Given the description of an element on the screen output the (x, y) to click on. 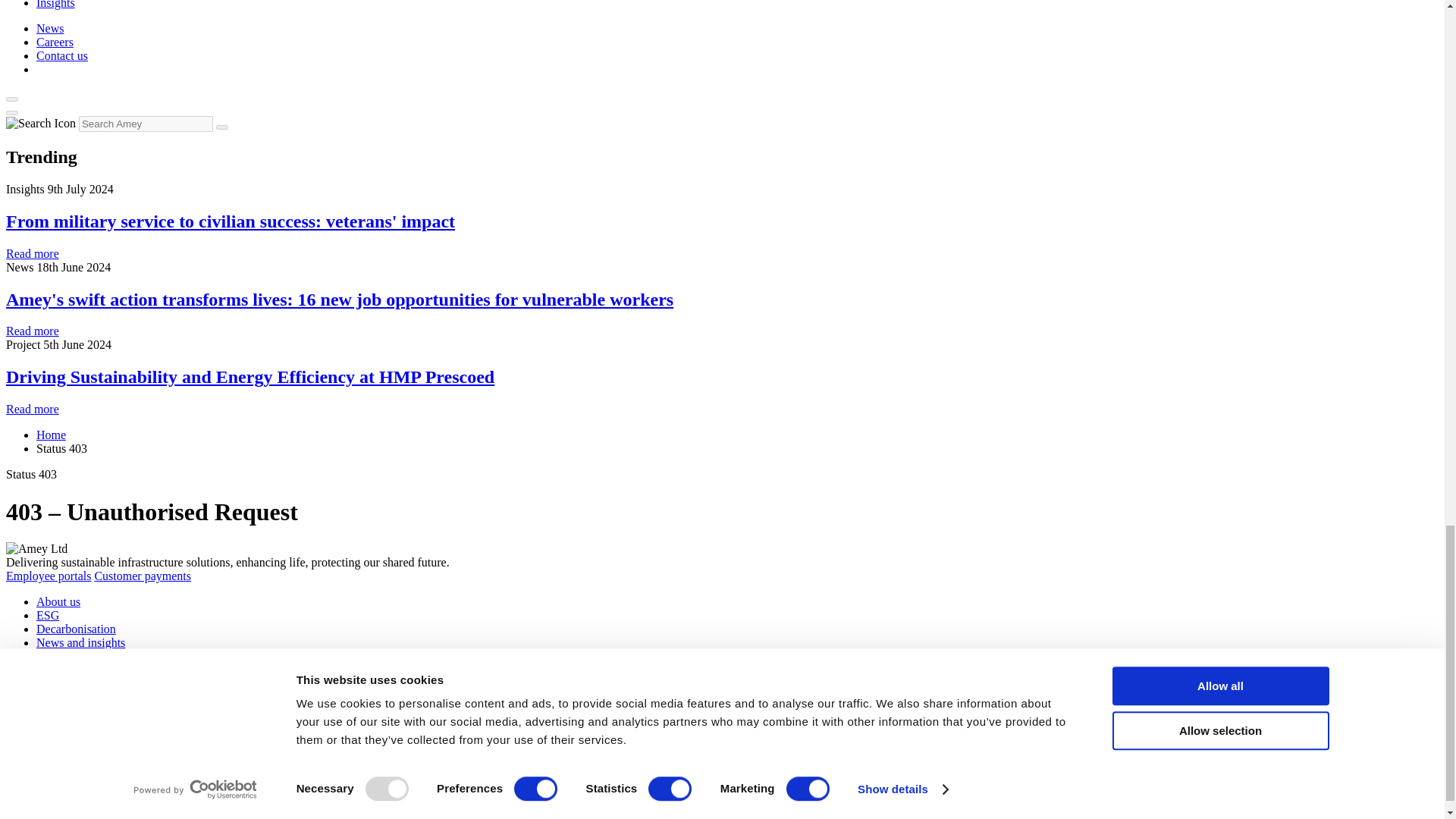
Search (221, 127)
